Given the description of an element on the screen output the (x, y) to click on. 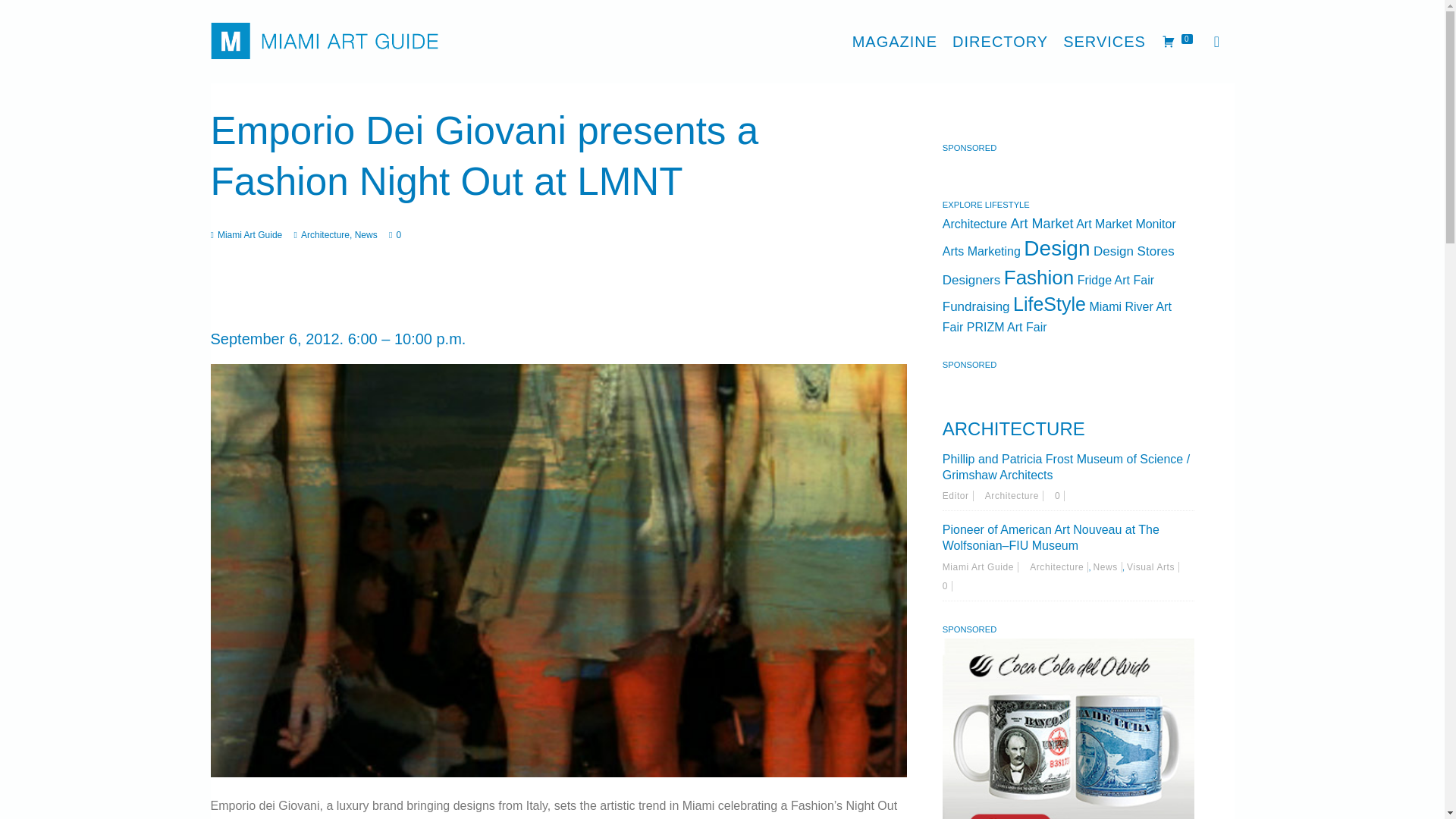
SERVICES (1104, 41)
0 (947, 585)
MAGAZINE (894, 41)
DIRECTORY (1000, 41)
0 (1059, 495)
